Given the description of an element on the screen output the (x, y) to click on. 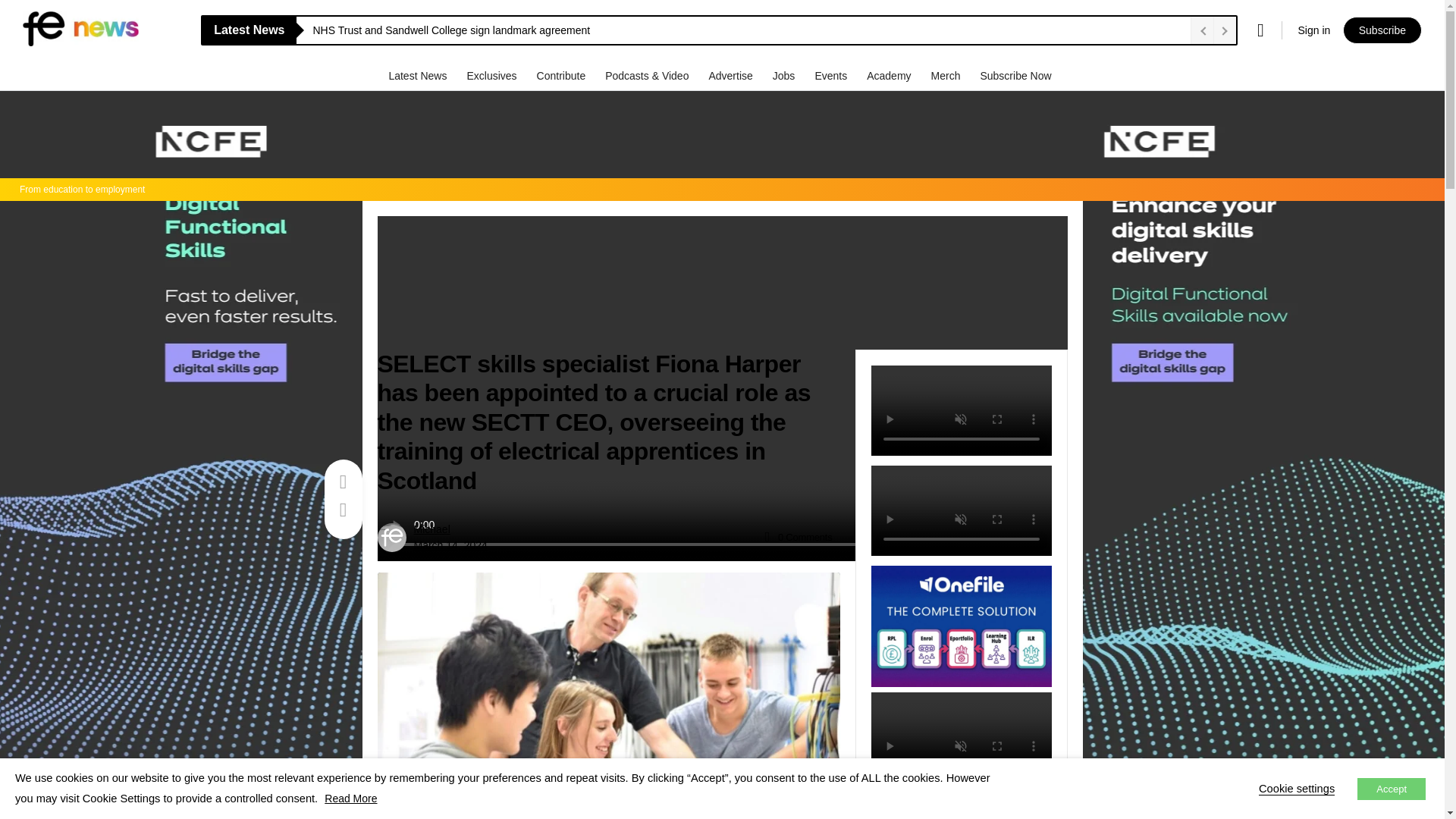
NHS Trust and Sandwell College sign landmark agreement (747, 30)
Exclusives (493, 75)
Subscribe (1382, 30)
Latest News (419, 75)
Sign in (1313, 30)
